Given the description of an element on the screen output the (x, y) to click on. 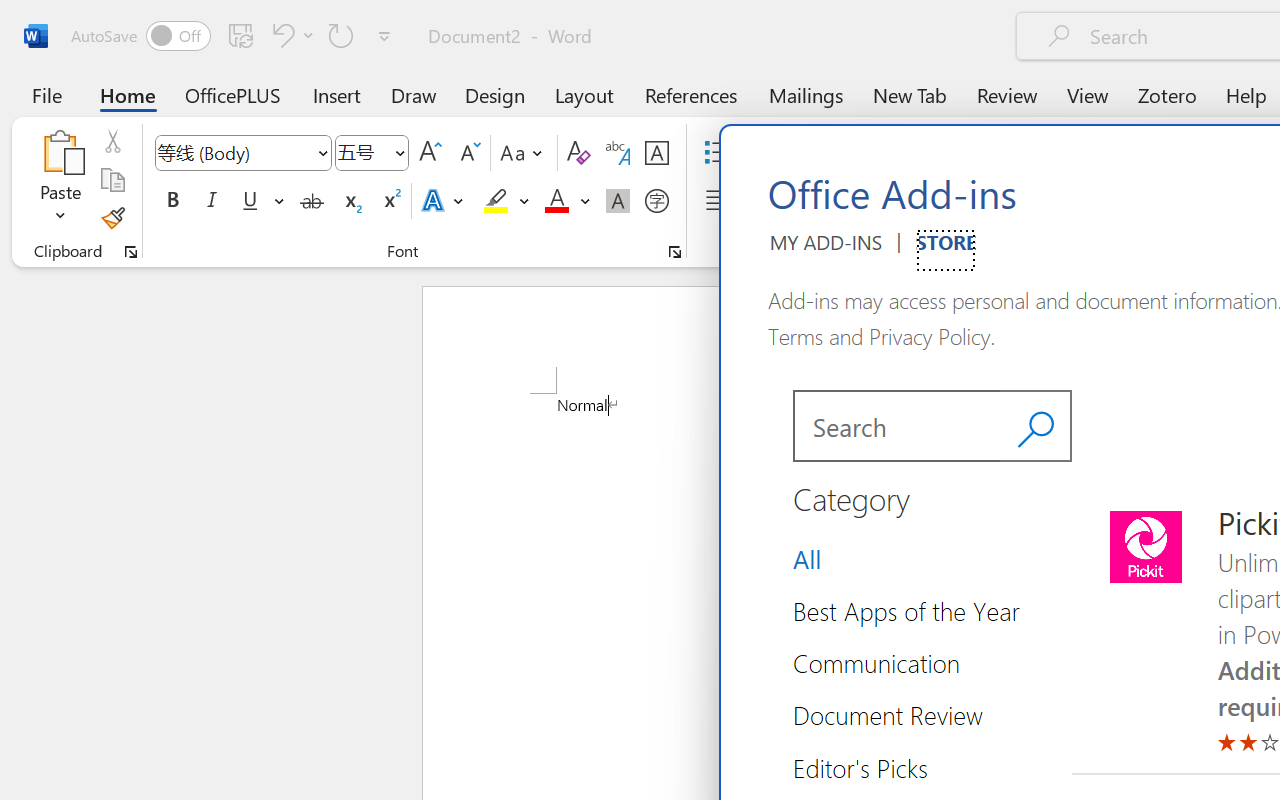
Strikethrough (312, 201)
Paste (60, 179)
Mailings (806, 94)
Underline (261, 201)
Customize Quick Access Toolbar (384, 35)
Category Group Editor's Picks 5 of 14 (867, 767)
Font Size (362, 152)
Font Color (567, 201)
New Tab (909, 94)
STORE (945, 249)
Insert (337, 94)
Font (234, 152)
Shrink Font (468, 153)
Pickit | Make impactful presentations in minutes icon (1145, 547)
